Given the description of an element on the screen output the (x, y) to click on. 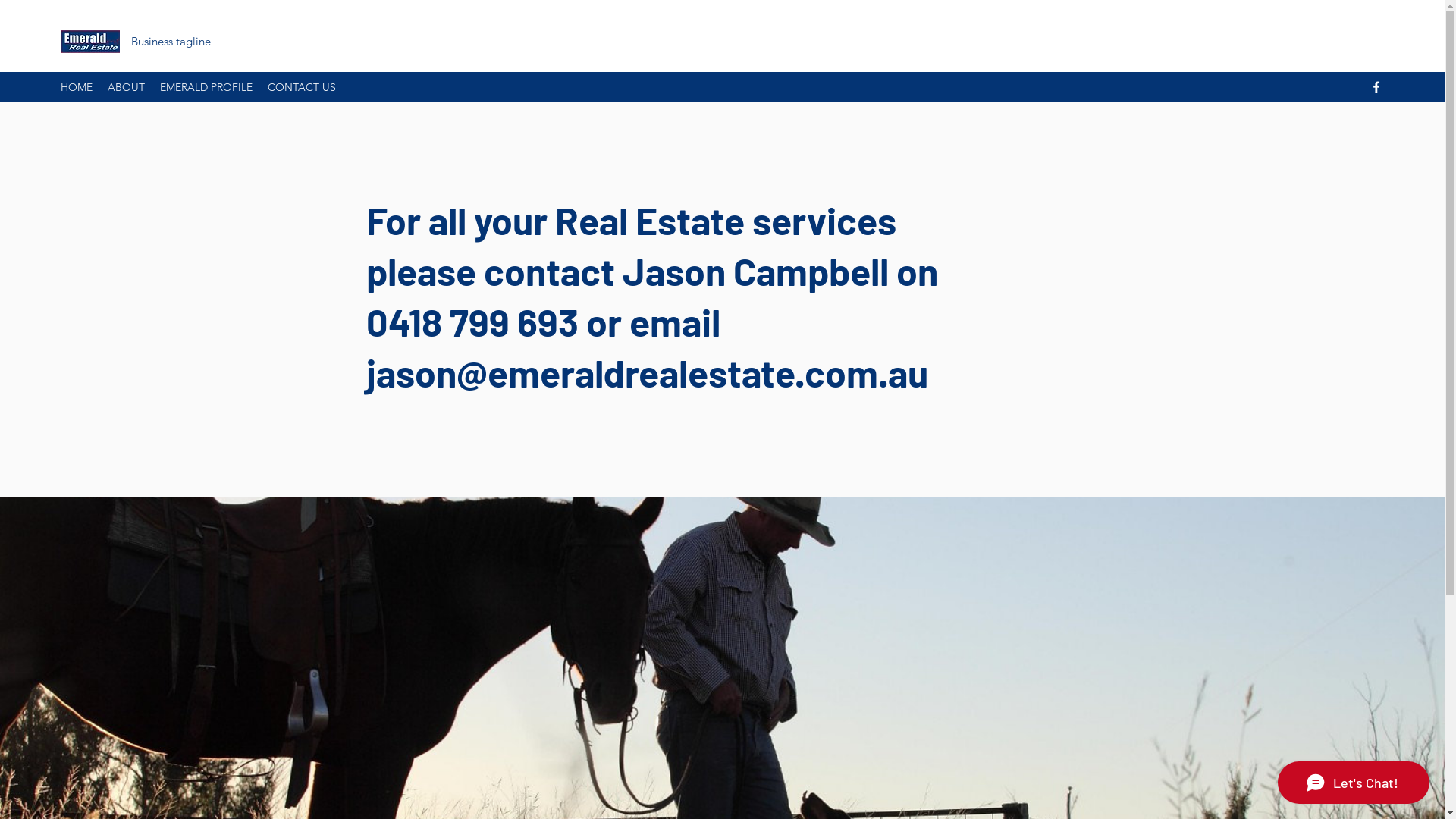
CONTACT US Element type: text (301, 86)
jason@emeraldrealestate.com.au Element type: text (646, 372)
ABOUT Element type: text (126, 86)
HOME Element type: text (76, 86)
EMERALD PROFILE Element type: text (206, 86)
